Given the description of an element on the screen output the (x, y) to click on. 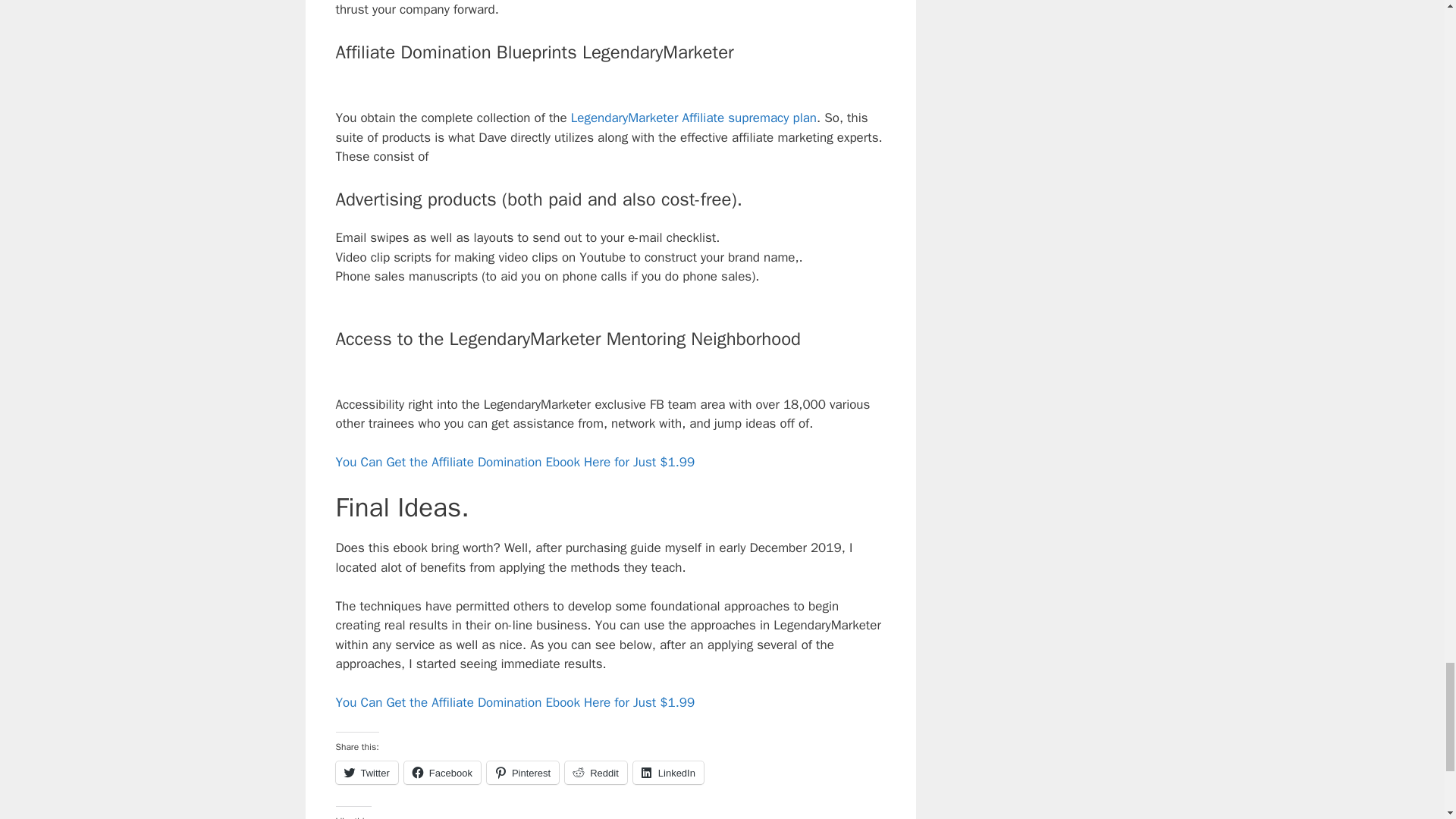
Click to share on Twitter (365, 772)
Facebook (442, 772)
Click to share on LinkedIn (668, 772)
Click to share on Reddit (595, 772)
Twitter (365, 772)
Click to share on Pinterest (522, 772)
LinkedIn (668, 772)
Reddit (595, 772)
Pinterest (522, 772)
LegendaryMarketer Affiliate supremacy plan (693, 117)
